Given the description of an element on the screen output the (x, y) to click on. 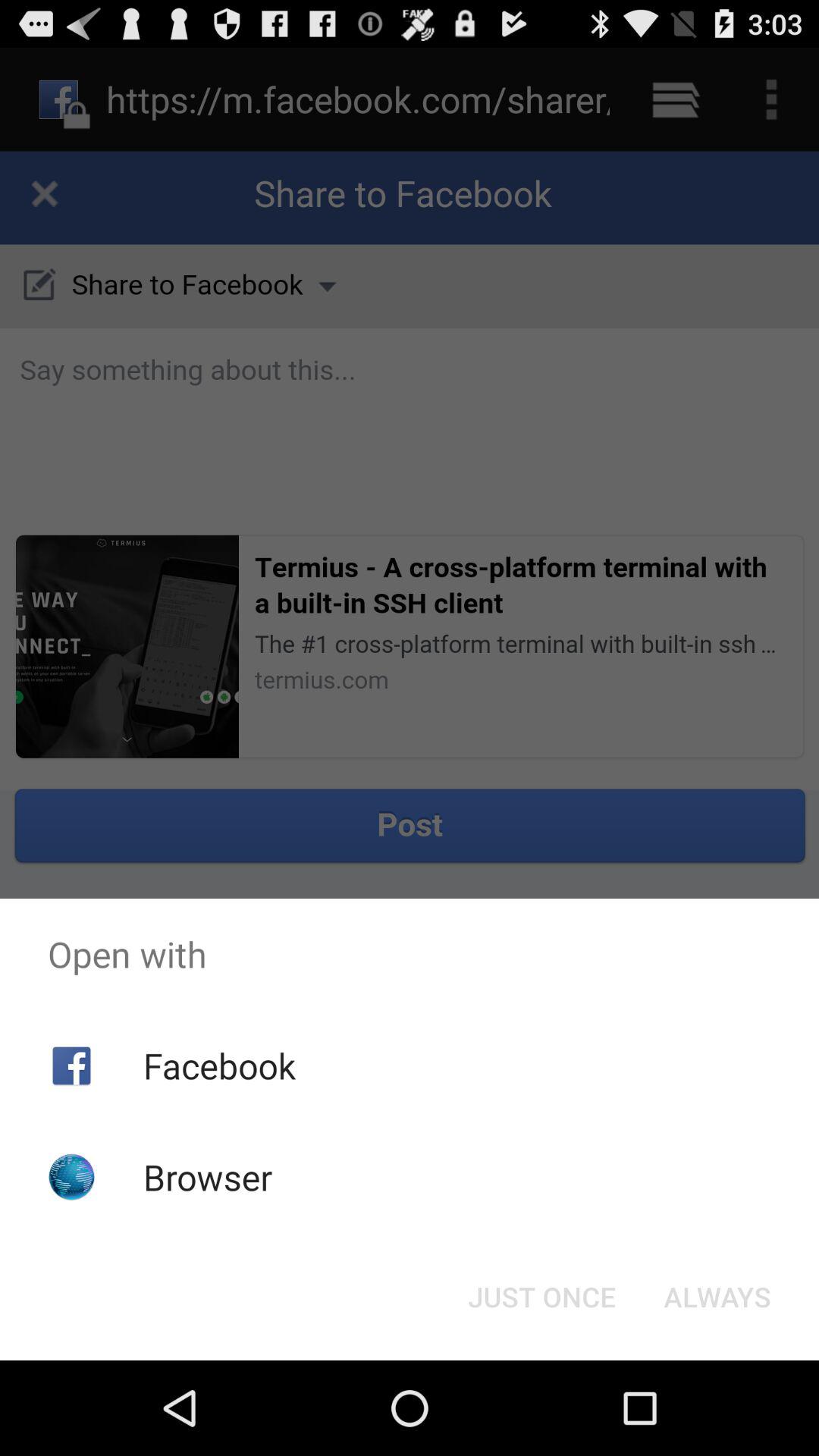
click button at the bottom (541, 1296)
